Given the description of an element on the screen output the (x, y) to click on. 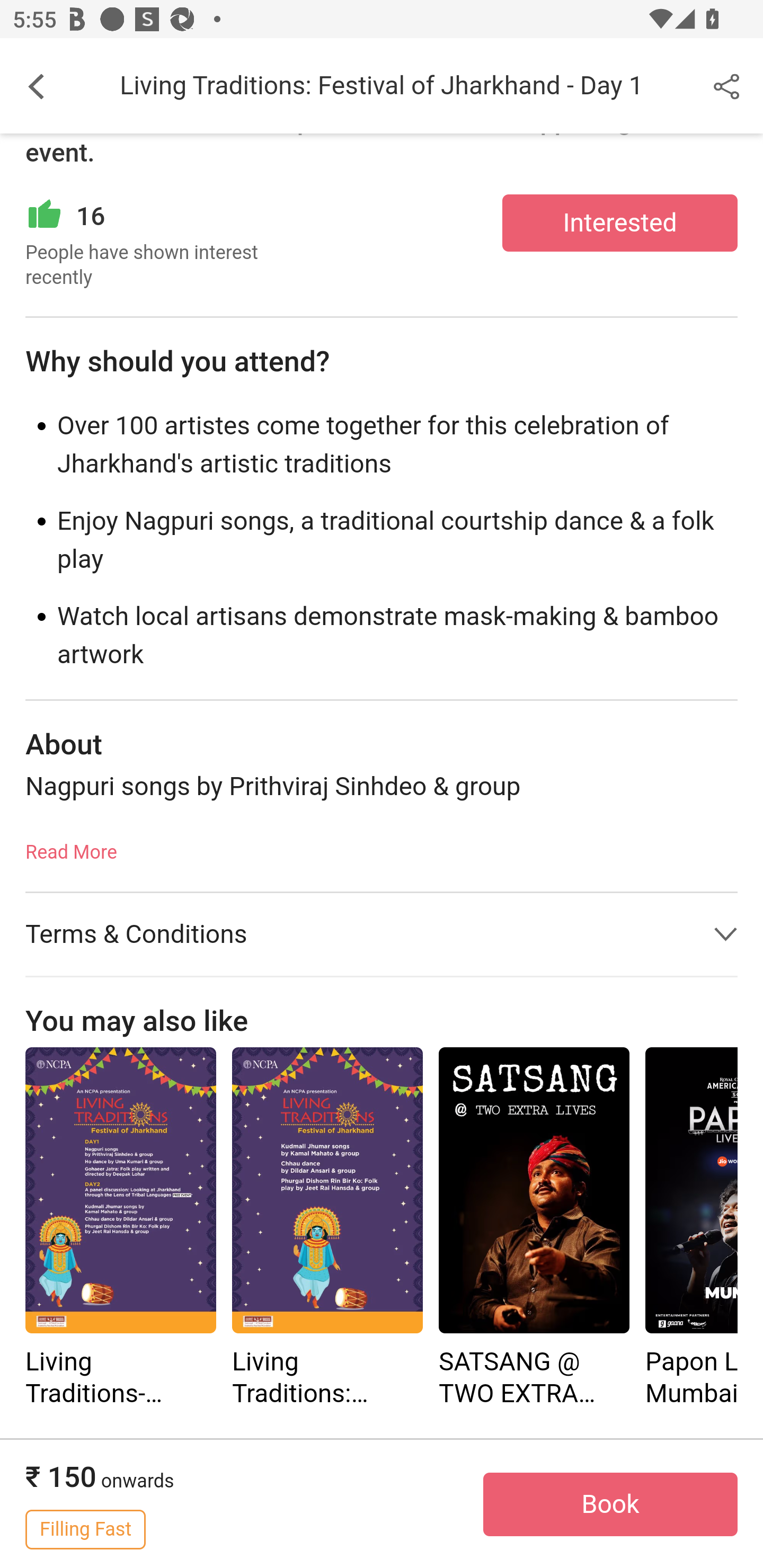
Interested (619, 223)
Read More (71, 846)
Terms & Conditions (381, 934)
Living Traditions- Festival of Jharkhand (120, 1229)
Living Traditions- Festival of Jharkhand (120, 1190)
Living Traditions: Festival of Jharkhand - Day 2 (326, 1229)
Living Traditions: Festival of Jharkhand - Day 2 (326, 1190)
SATSANG @ TWO EXTRA LIVES (533, 1229)
SATSANG @ TWO EXTRA LIVES (533, 1190)
Book (609, 1505)
